Given the description of an element on the screen output the (x, y) to click on. 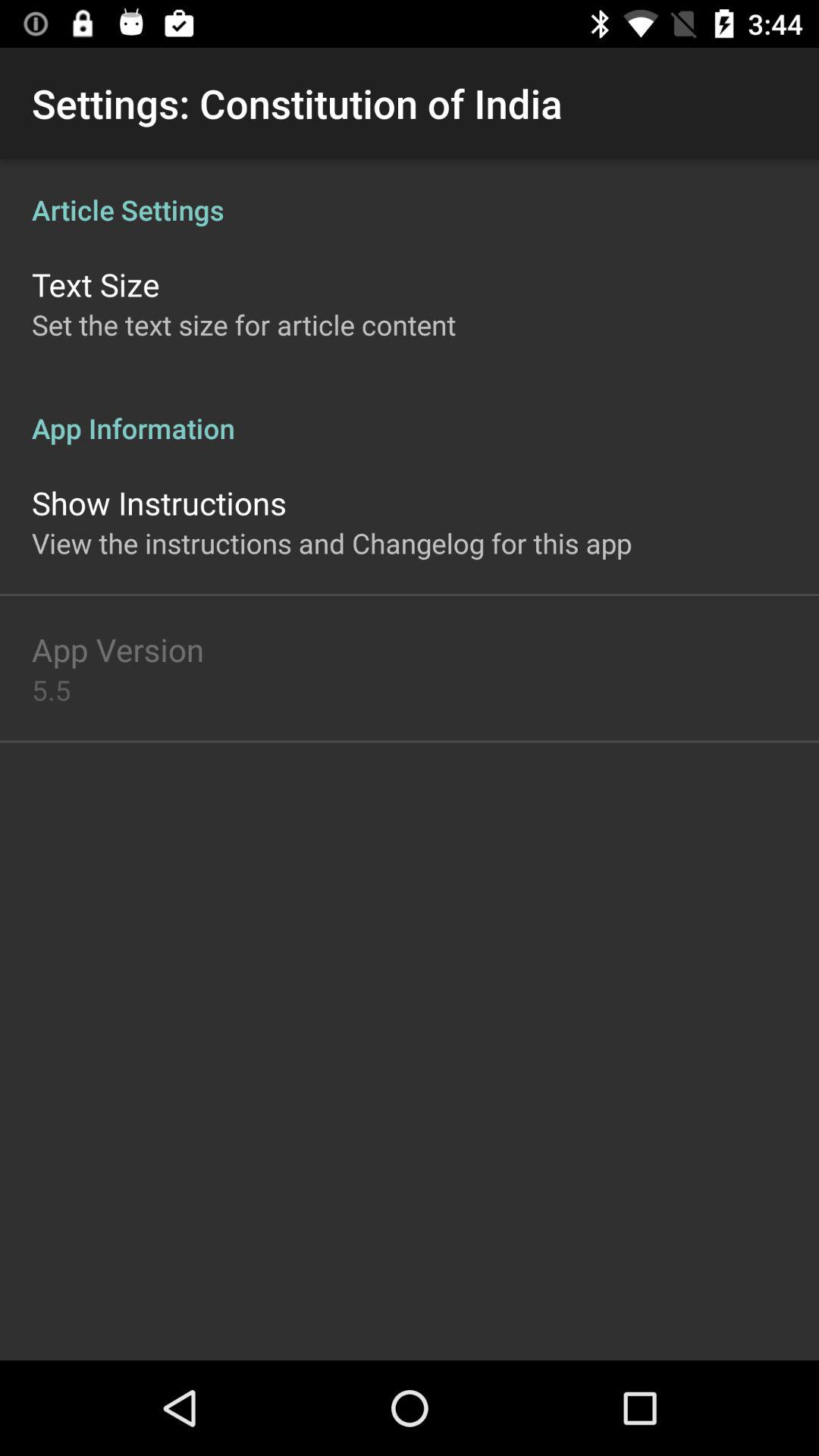
jump until the app information (409, 412)
